Given the description of an element on the screen output the (x, y) to click on. 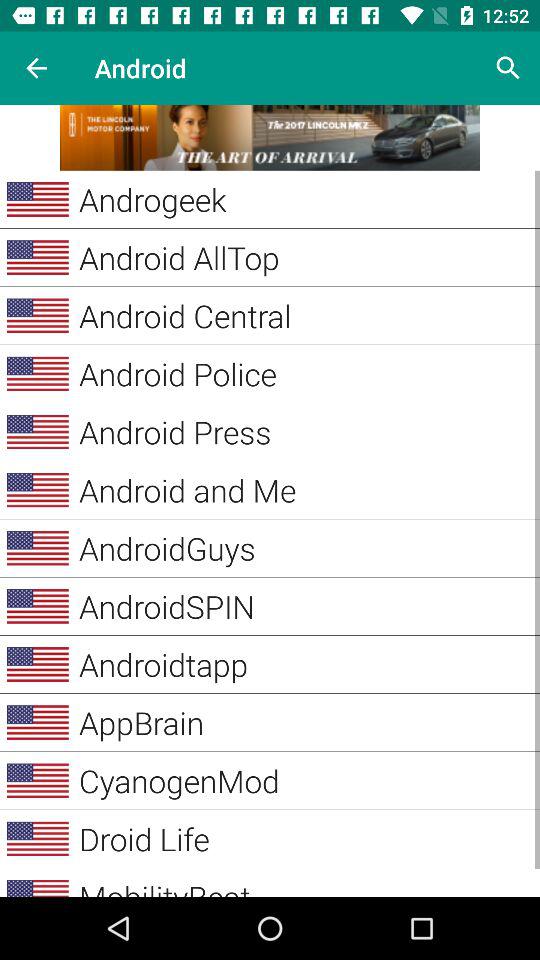
go to link in advertisement (270, 137)
